Given the description of an element on the screen output the (x, y) to click on. 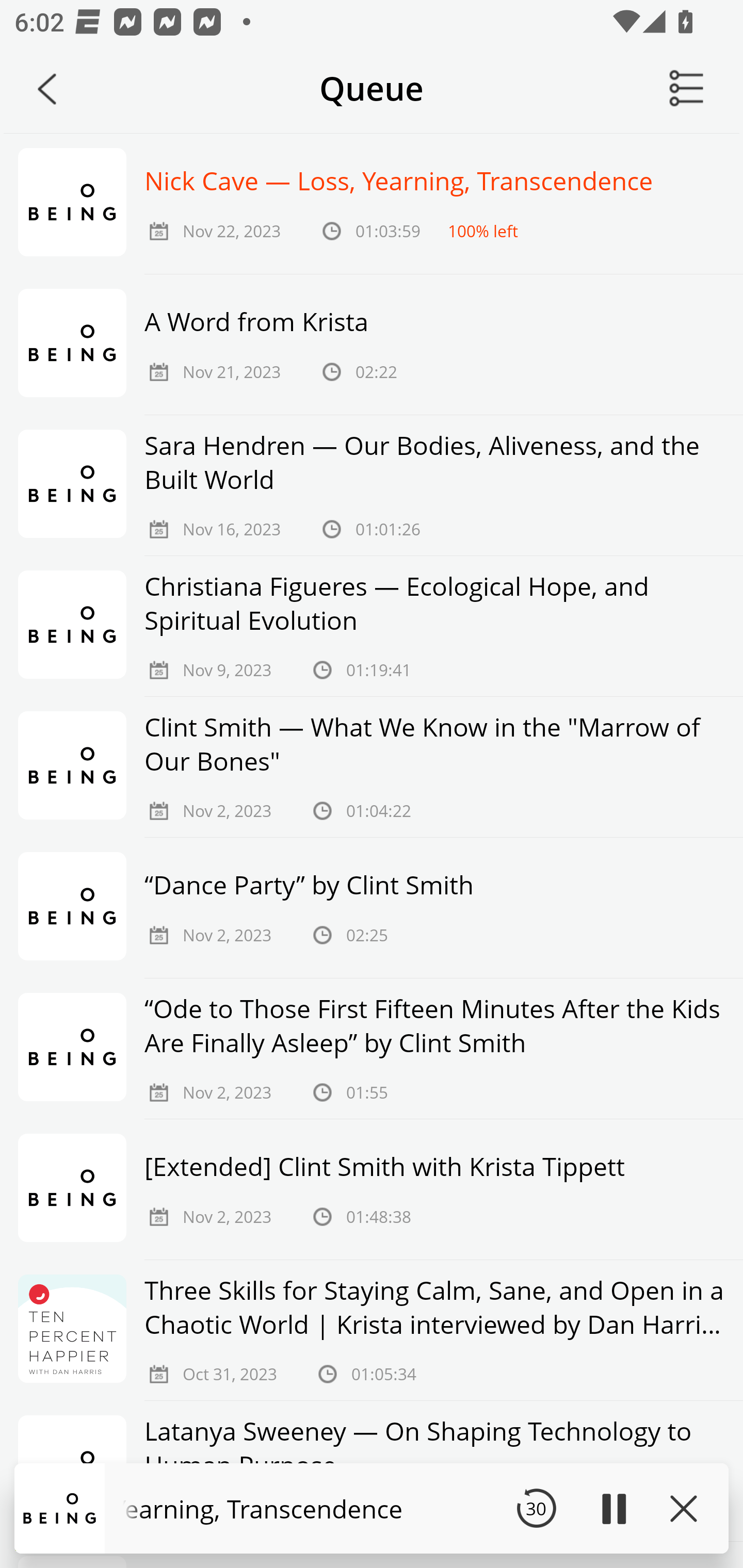
Back (46, 88)
A Word from Krista Nov 21, 2023 02:22 (371, 344)
“Dance Party” by Clint Smith Nov 2, 2023 02:25 (371, 907)
Play (613, 1507)
30 Seek Backward (536, 1508)
